Given the description of an element on the screen output the (x, y) to click on. 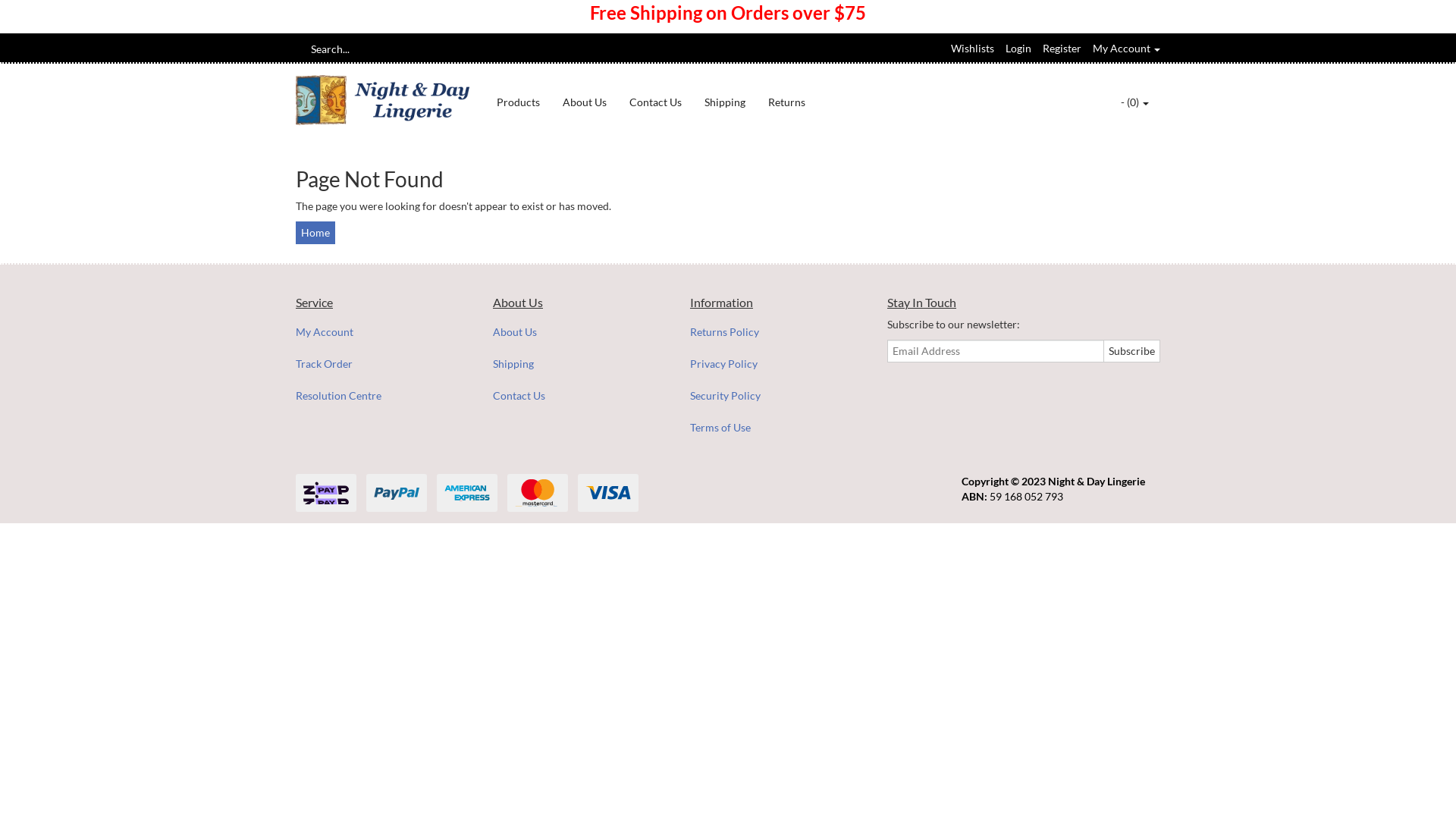
Contact Us Element type: text (655, 102)
- (0) Element type: text (1134, 102)
Resolution Centre Element type: text (377, 395)
About Us Element type: text (584, 102)
About Us Element type: text (574, 331)
Returns Element type: text (786, 102)
Contact Us Element type: text (574, 395)
My Account Element type: text (1126, 47)
Login Element type: text (1018, 47)
Track Order Element type: text (377, 363)
Shipping Element type: text (724, 102)
Products Element type: text (518, 102)
Shipping Element type: text (574, 363)
Returns Policy Element type: text (771, 331)
Terms of Use Element type: text (771, 427)
Search Element type: text (300, 48)
Subscribe Element type: text (1131, 350)
Wishlists Element type: text (972, 47)
Security Policy Element type: text (771, 395)
Home Element type: text (315, 232)
Privacy Policy Element type: text (771, 363)
My Account Element type: text (377, 331)
Register Element type: text (1061, 47)
